Given the description of an element on the screen output the (x, y) to click on. 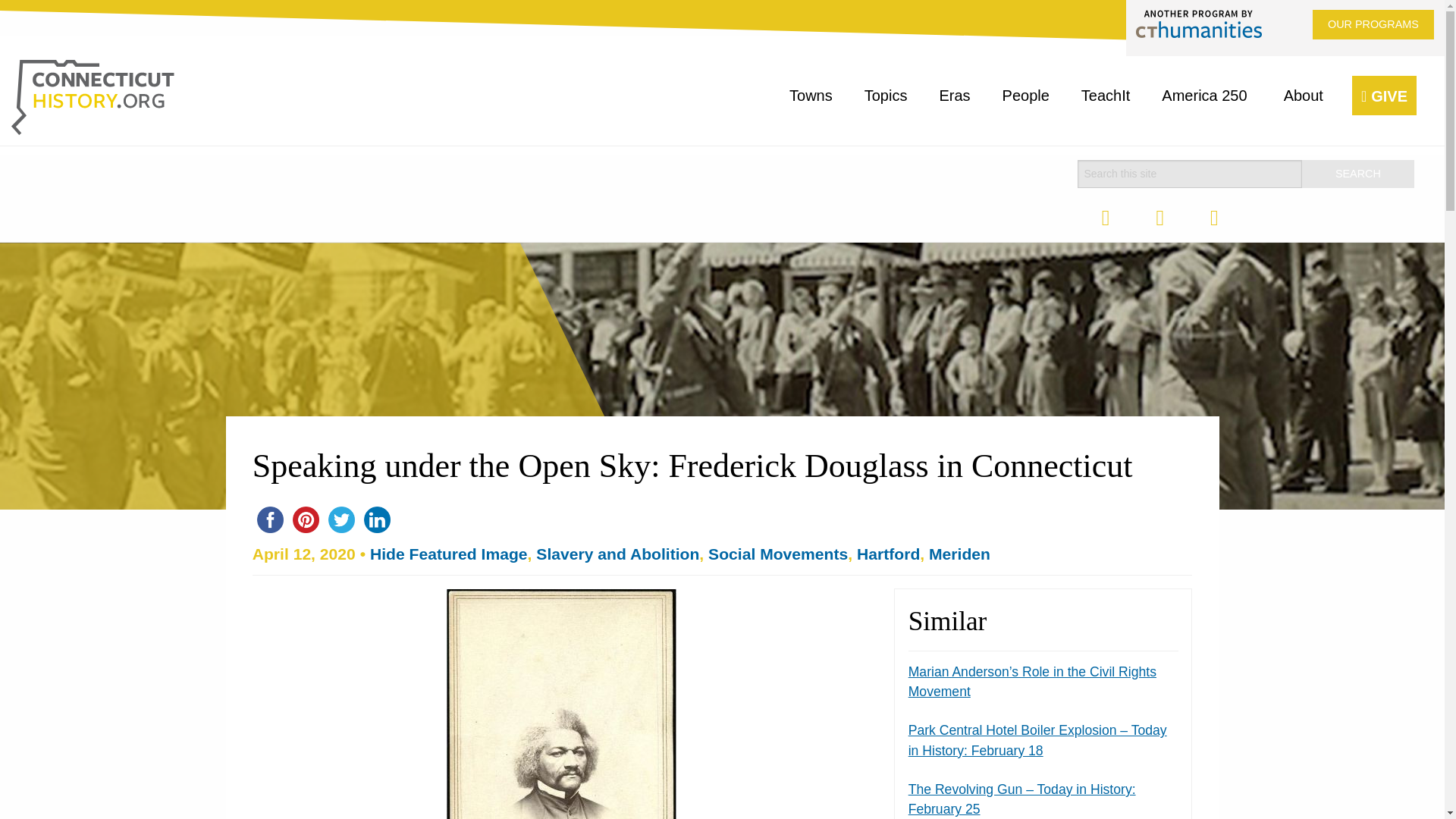
OUR PROGRAMS (1372, 24)
TeachIt (1105, 95)
Social Movements (777, 553)
twitter (341, 519)
People (1025, 95)
Hartford (888, 553)
Hide Featured Image (448, 553)
Search (1357, 173)
Towns (810, 95)
pinterest (305, 519)
Search (1357, 173)
facebook (269, 519)
America 250 (1206, 95)
About (1305, 95)
Topics (886, 95)
